Given the description of an element on the screen output the (x, y) to click on. 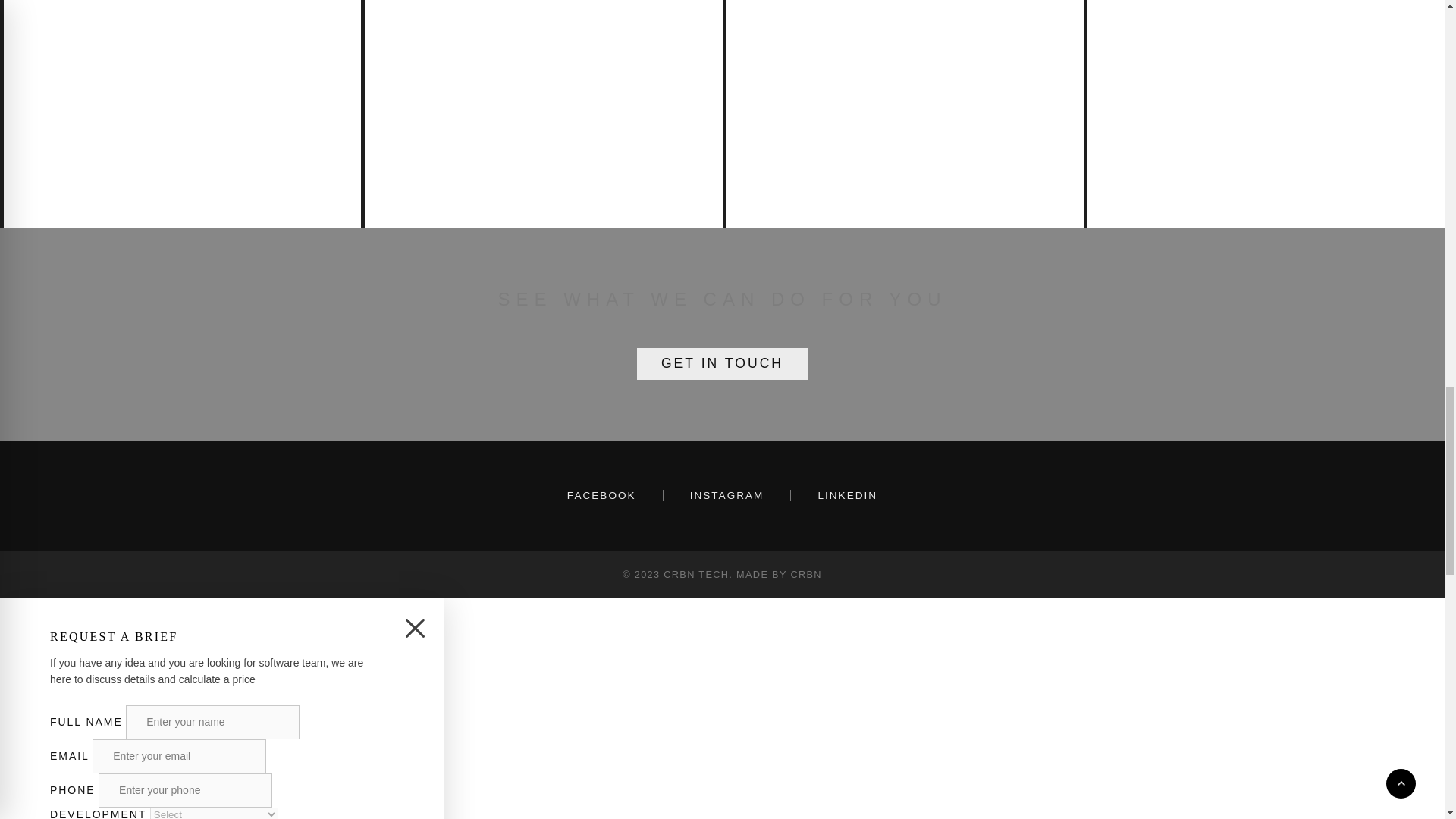
FACEBOOK (601, 495)
INSTAGRAM (727, 495)
LINKEDIN (847, 495)
